Given the description of an element on the screen output the (x, y) to click on. 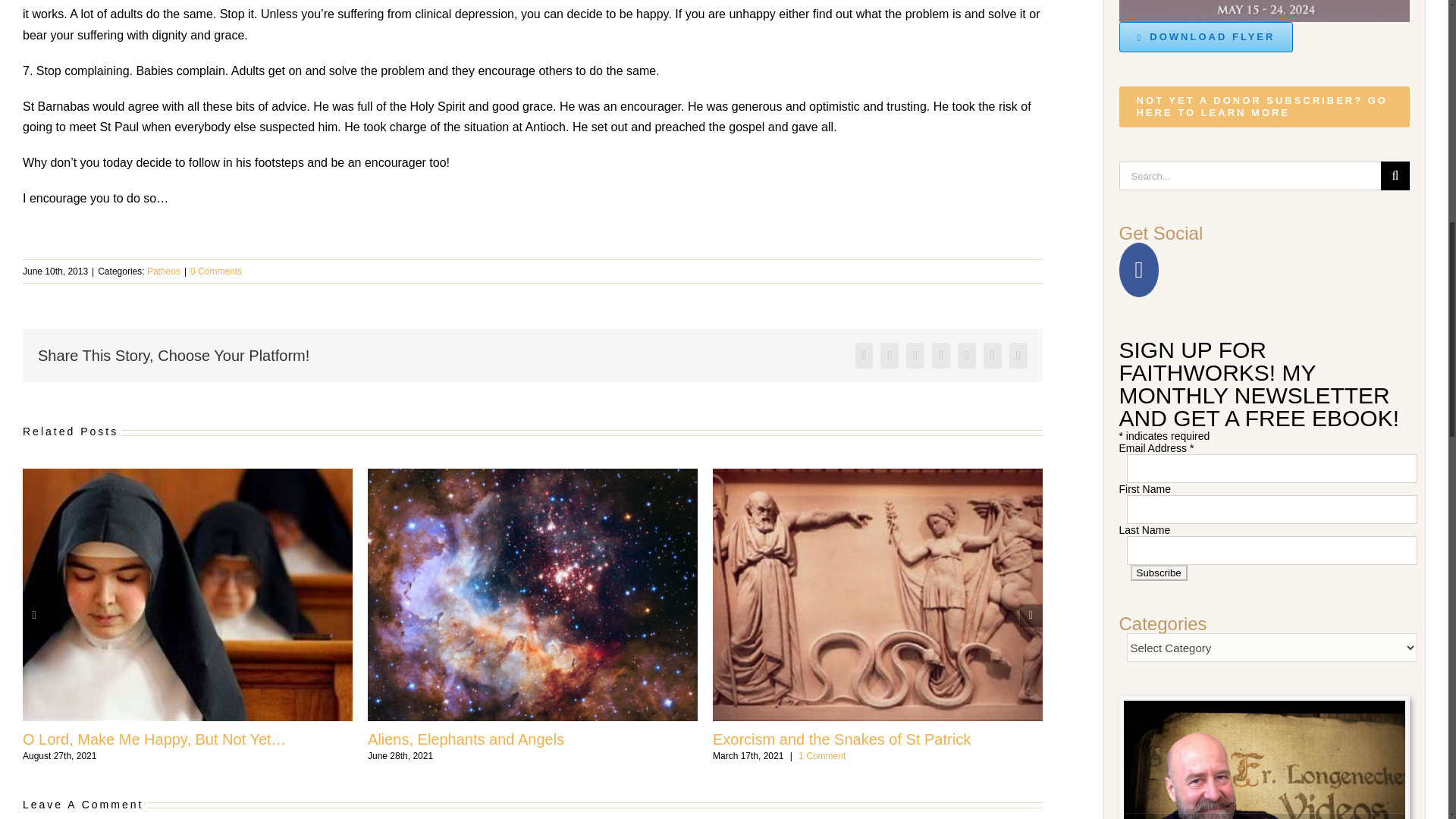
Exorcism and the Snakes of St Patrick (842, 739)
Aliens, Elephants and Angels (466, 739)
Subscribe (1157, 572)
